Given the description of an element on the screen output the (x, y) to click on. 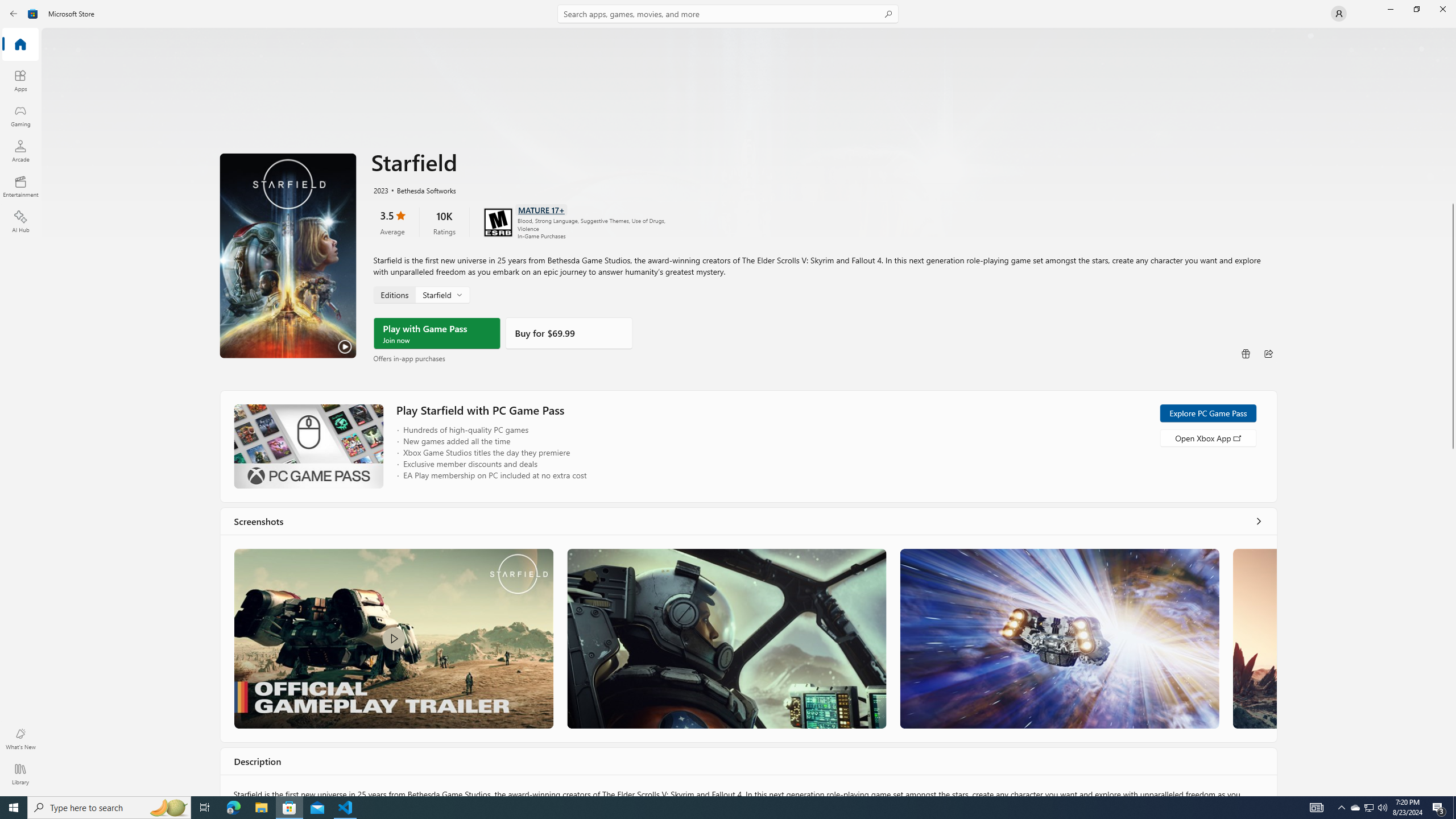
Home (20, 45)
Starfield, Edition selector (421, 294)
See all (1258, 520)
AI Hub (20, 221)
Buy (568, 332)
AutomationID: NavigationControl (728, 398)
Gaming (20, 115)
Explore PC Game Pass (1207, 412)
Vertical Large Decrease (1452, 118)
Screenshot 4 (1253, 638)
User profile (1338, 13)
Bethesda Softworks (420, 189)
Play with Game Pass (436, 332)
Share (1267, 353)
Close Microsoft Store (1442, 9)
